Given the description of an element on the screen output the (x, y) to click on. 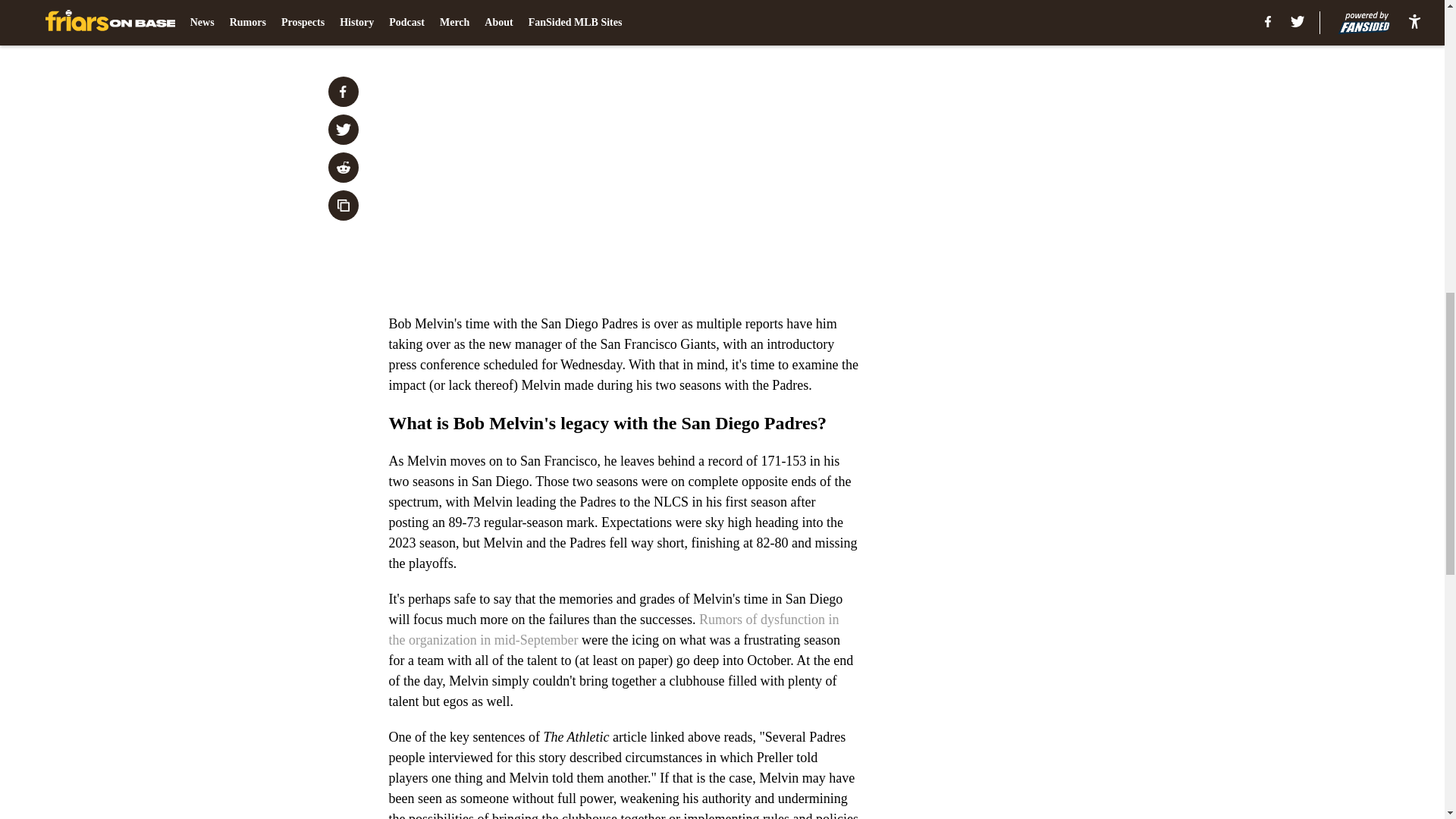
Rumors of dysfunction in the organization in mid-September (613, 629)
